Given the description of an element on the screen output the (x, y) to click on. 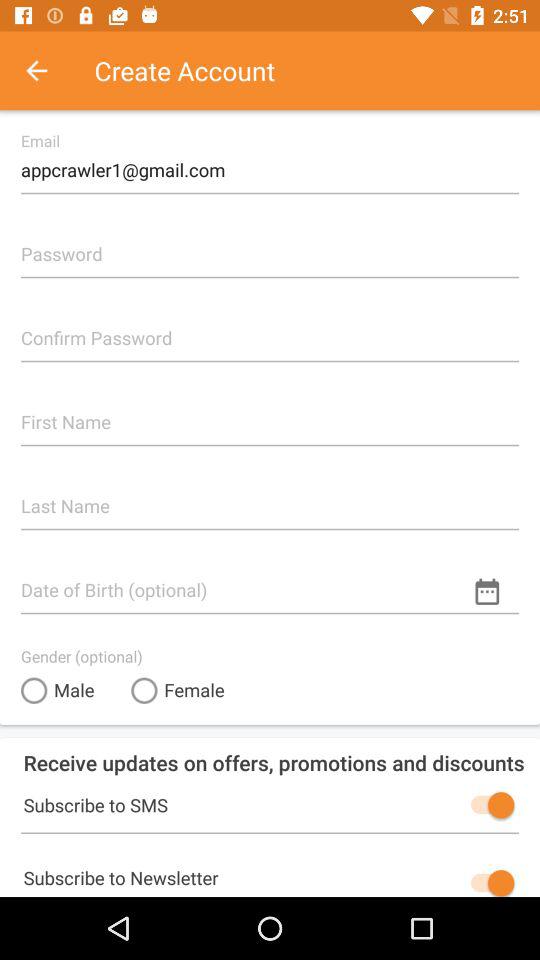
enter last name row (270, 497)
